Given the description of an element on the screen output the (x, y) to click on. 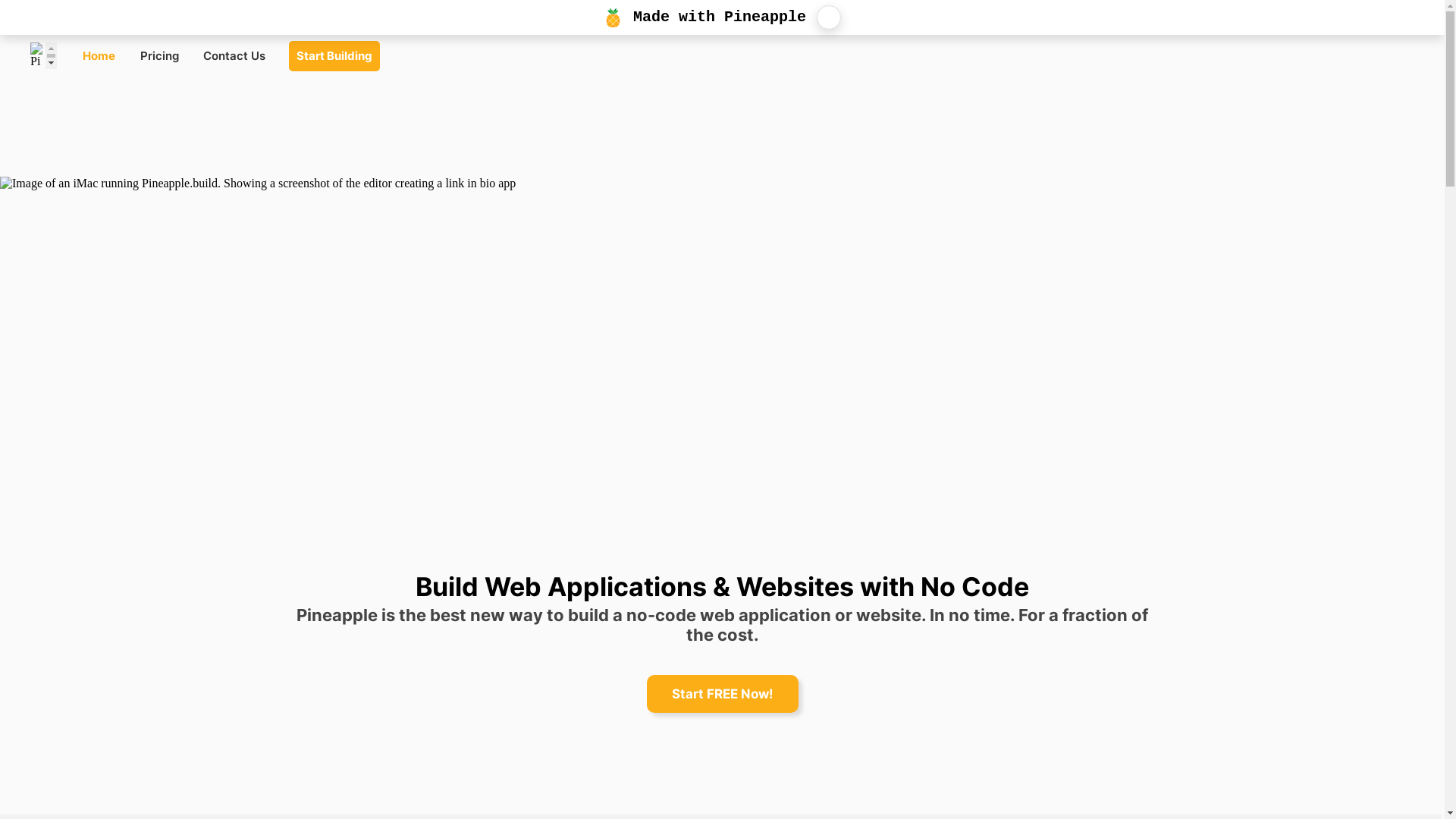
Contact Us Element type: text (233, 55)
Pineapple Logo Image Element type: hover (43, 55)
Start FREE Now! Element type: text (721, 693)
Home Element type: text (98, 55)
Start Building Element type: text (333, 55)
Pricing Element type: text (159, 55)
